Given the description of an element on the screen output the (x, y) to click on. 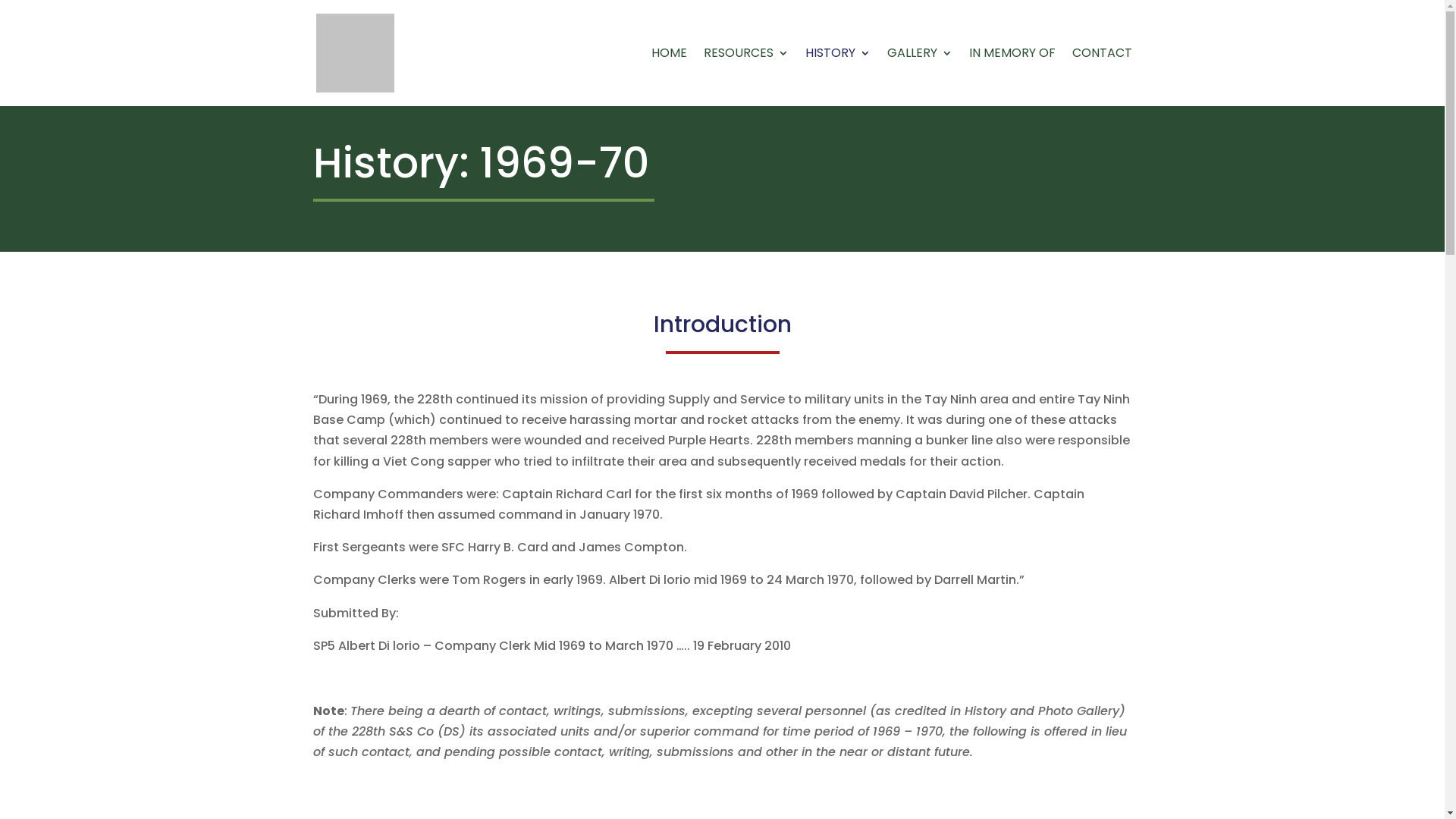
CONTACT Element type: text (1102, 76)
HOME Element type: text (668, 76)
HISTORY Element type: text (837, 76)
IN MEMORY OF Element type: text (1012, 76)
GALLERY Element type: text (919, 76)
RESOURCES Element type: text (745, 76)
